Given the description of an element on the screen output the (x, y) to click on. 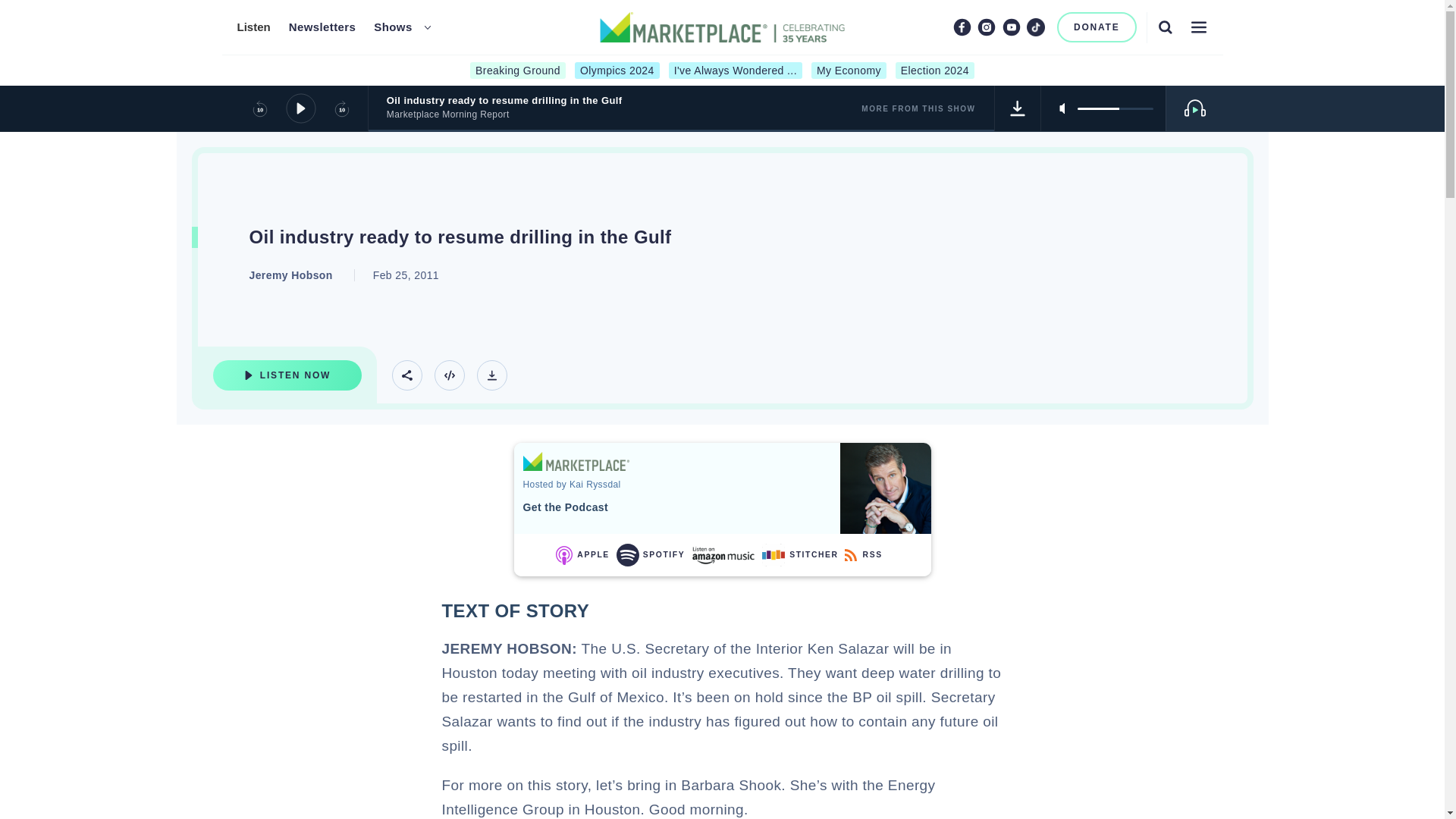
Menu (1198, 27)
Newsletters (322, 27)
Listen (252, 26)
Listen Now (286, 374)
Facebook (962, 27)
Search (1164, 27)
DONATE (1097, 27)
Youtube (1011, 27)
Marketplace (575, 461)
